Given the description of an element on the screen output the (x, y) to click on. 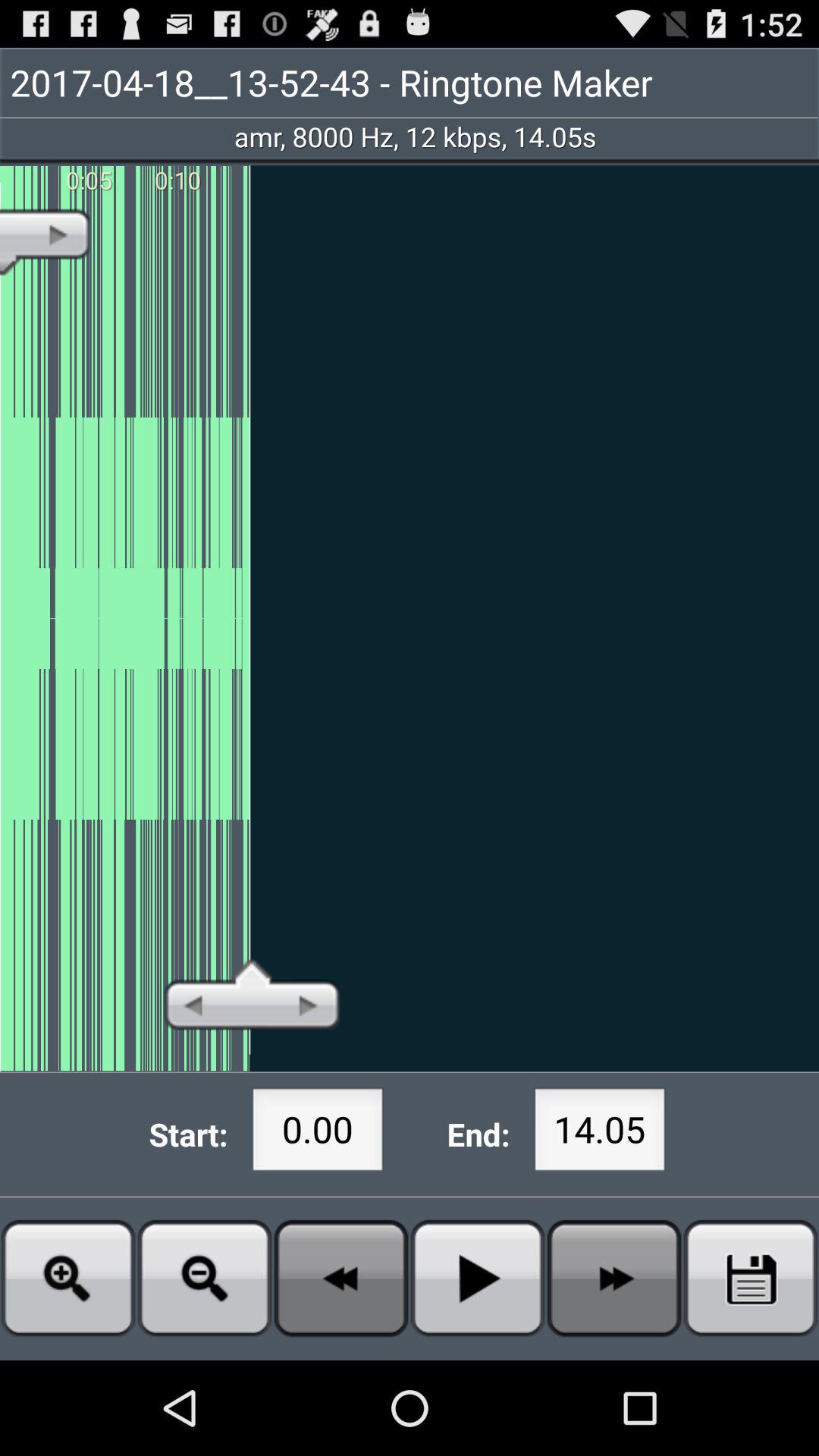
fast forward (614, 1278)
